Given the description of an element on the screen output the (x, y) to click on. 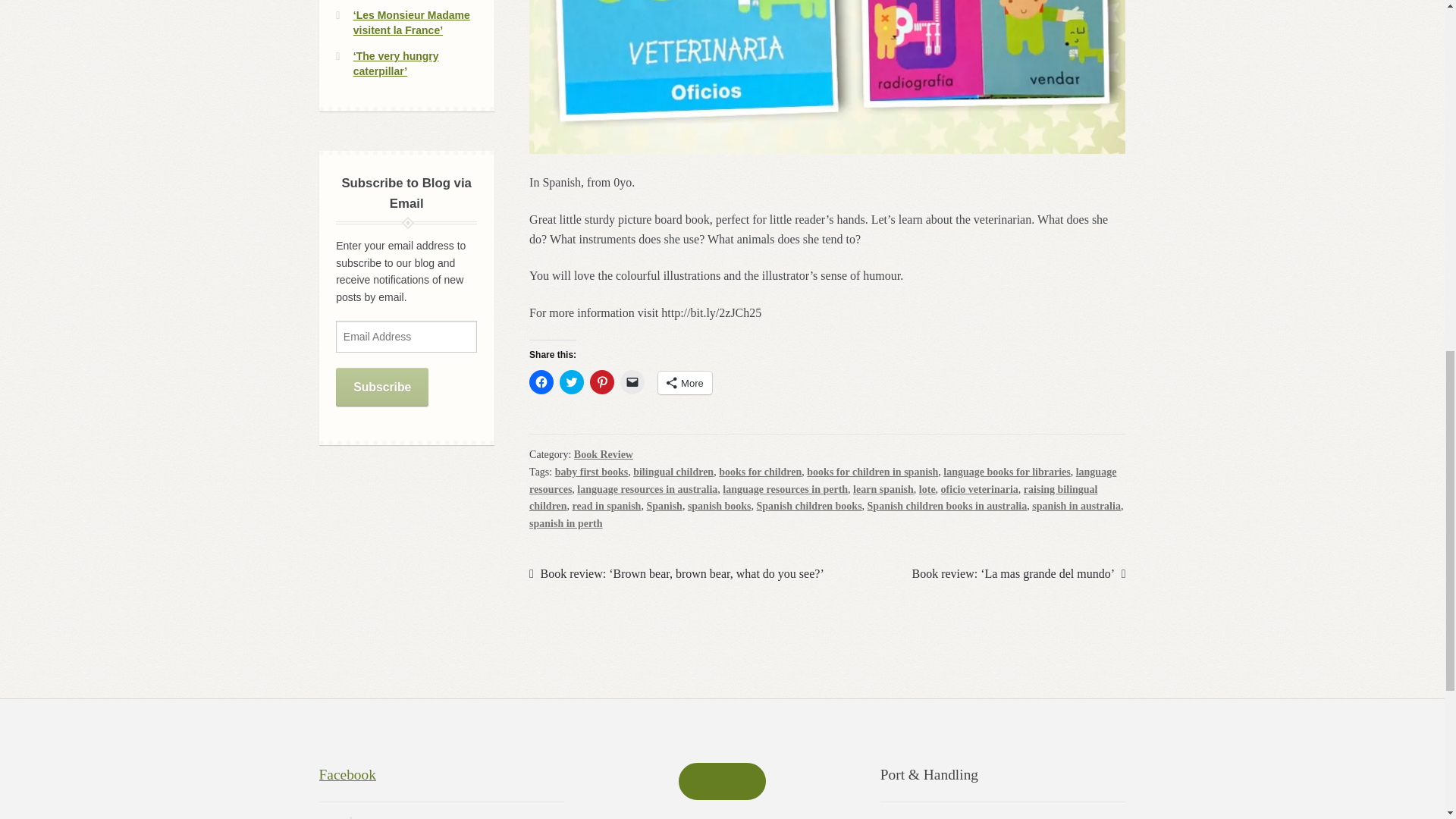
Click to share on Pinterest (601, 381)
Click to share on Twitter (571, 381)
Click to share on Facebook (541, 381)
Click to email a link to a friend (632, 381)
